Given the description of an element on the screen output the (x, y) to click on. 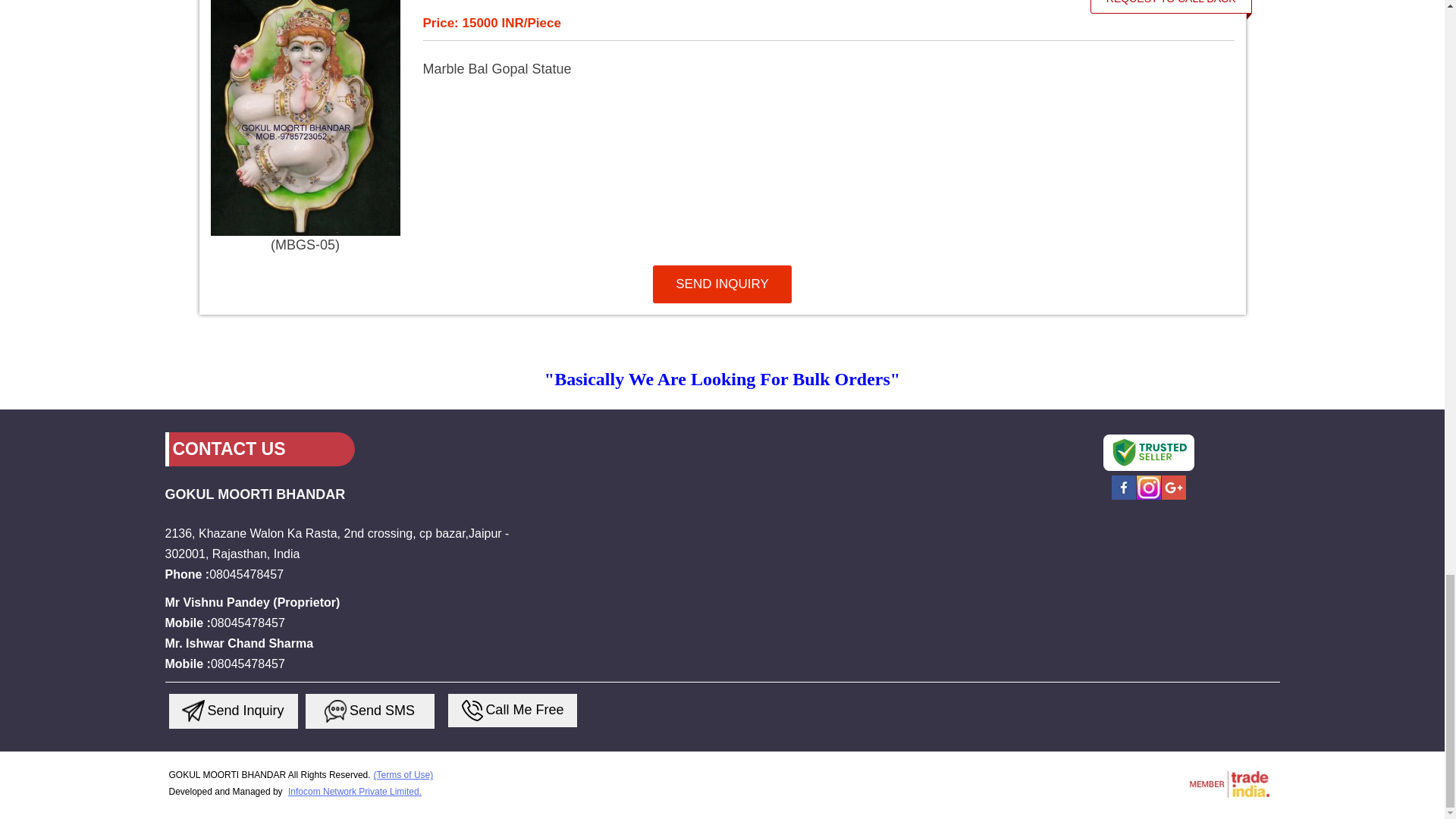
Facebook (1123, 498)
Google Plus (1173, 498)
Instagram (1148, 498)
Send Inquiry (335, 711)
Send Inquiry (472, 710)
Send Inquiry (193, 711)
